Given the description of an element on the screen output the (x, y) to click on. 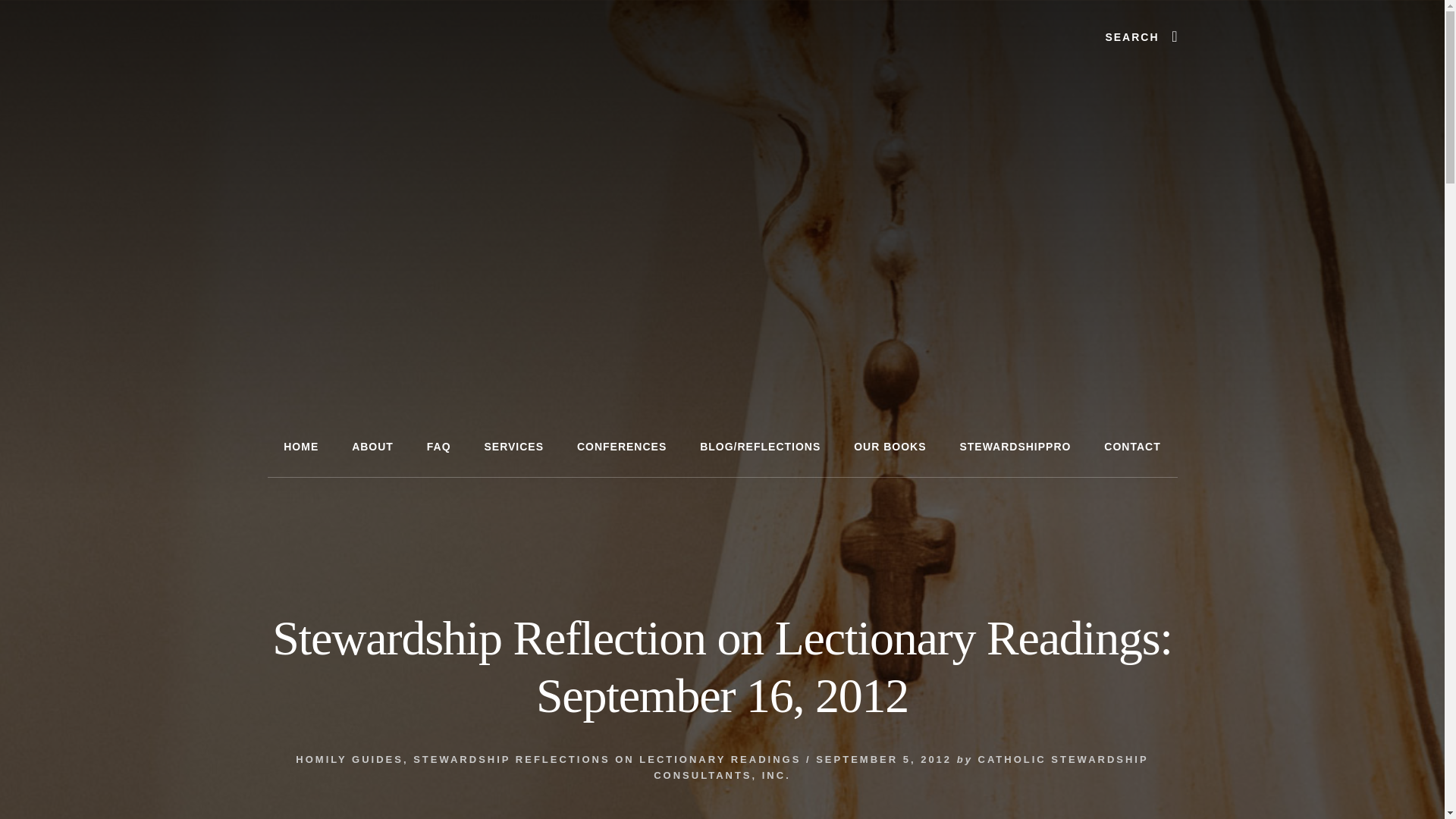
HOME (300, 446)
STEWARDSHIP REFLECTIONS ON LECTIONARY READINGS (606, 758)
FAQ (438, 446)
ABOUT (372, 446)
CONTACT (1131, 446)
SERVICES (513, 446)
OUR BOOKS (889, 446)
